Given the description of an element on the screen output the (x, y) to click on. 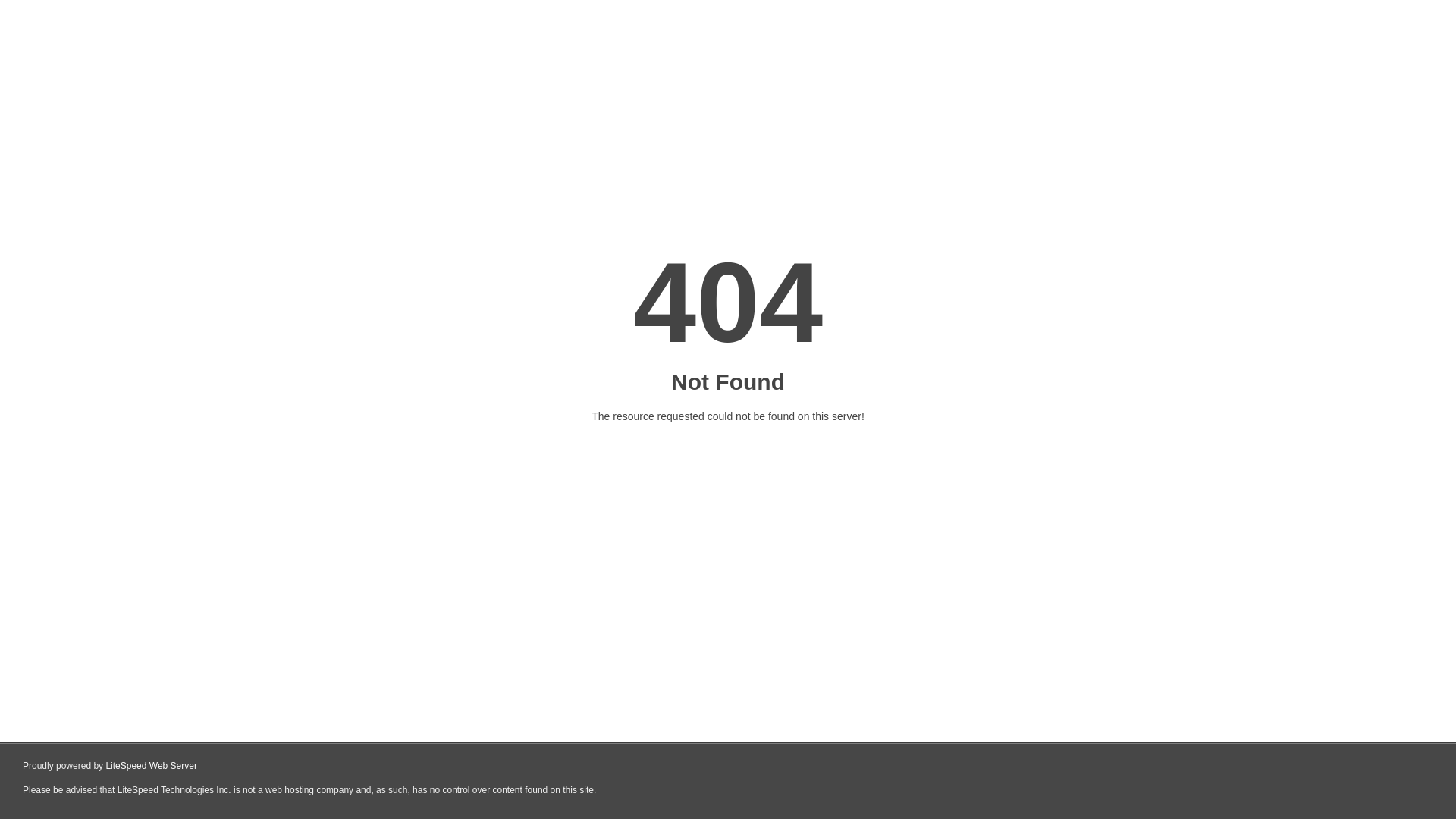
LiteSpeed Web Server Element type: text (151, 765)
